Given the description of an element on the screen output the (x, y) to click on. 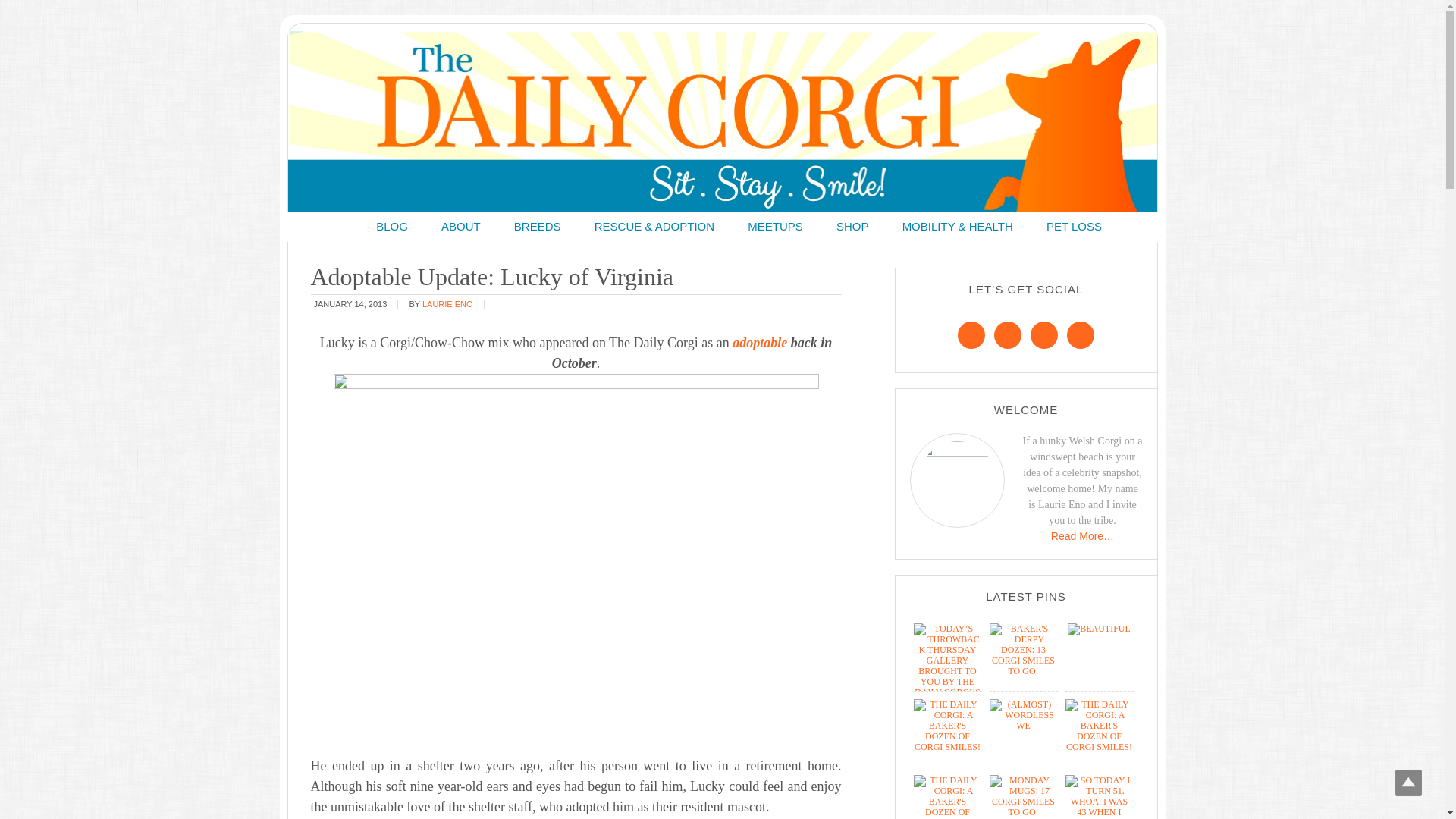
adoptable (759, 342)
PET LOSS (1073, 226)
MEETUPS (775, 226)
Scroll to Top (1408, 782)
BLOG (392, 226)
Beautiful - Pinned on Mar 27, 2017 (1099, 628)
SHOP (852, 226)
